Given the description of an element on the screen output the (x, y) to click on. 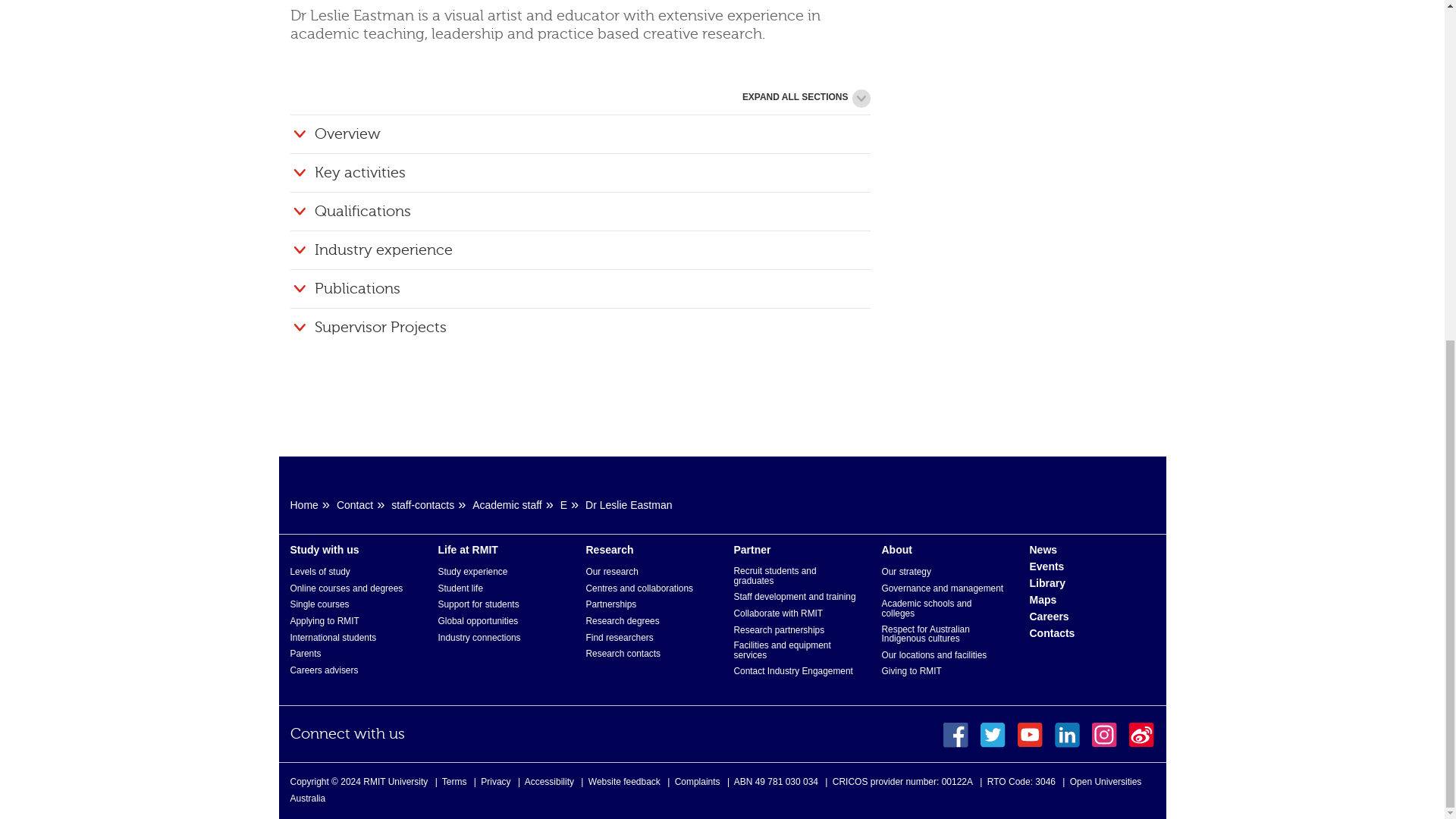
Discover us on YouTube (1029, 734)
Join us on LinkedIn (1067, 734)
Join us on facebook (955, 734)
Join Us On Weibo (1141, 734)
Join Us On Instagram (1104, 734)
Follow us on Twitter (992, 734)
